Given the description of an element on the screen output the (x, y) to click on. 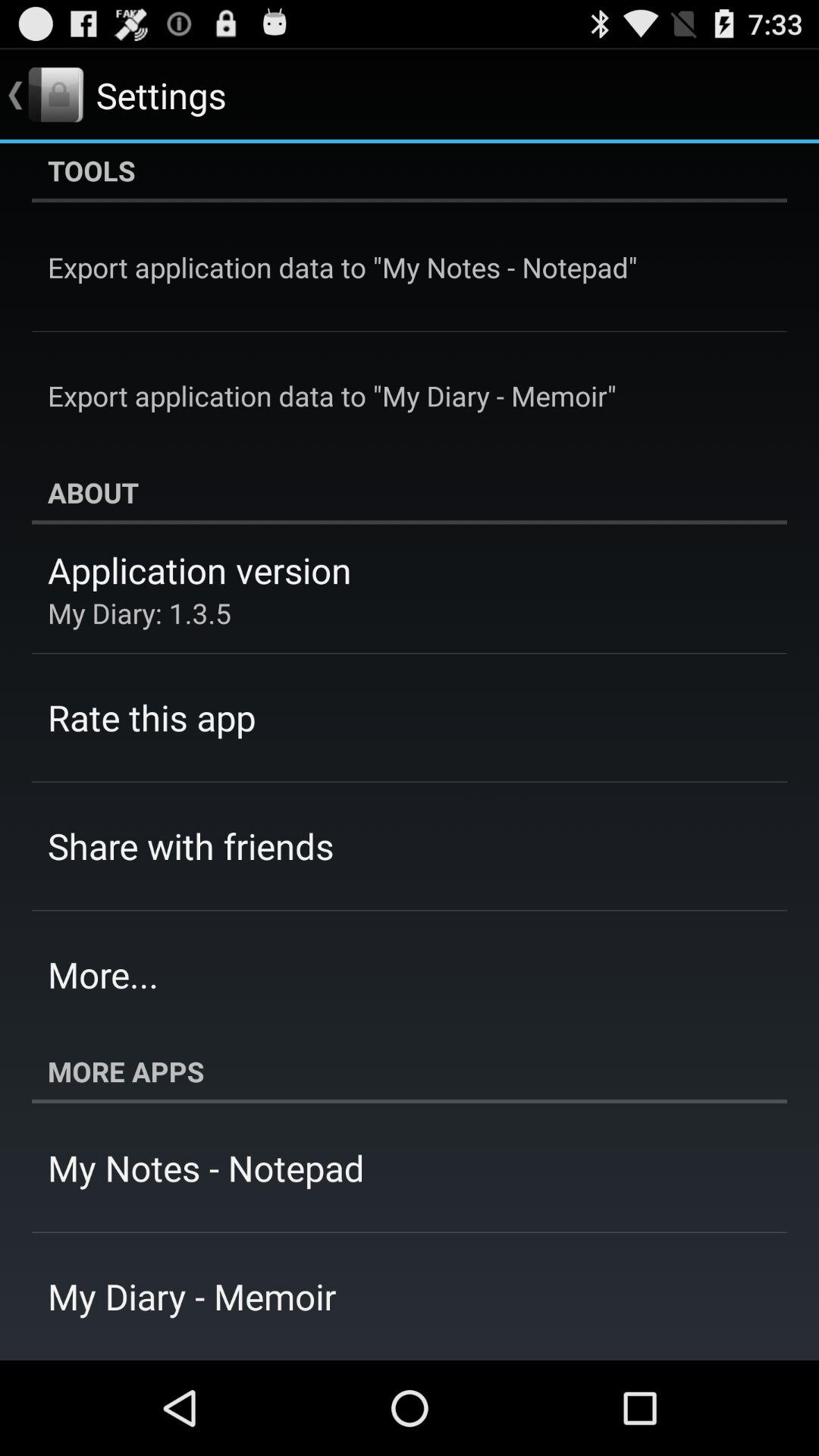
press icon at the bottom (409, 1071)
